Given the description of an element on the screen output the (x, y) to click on. 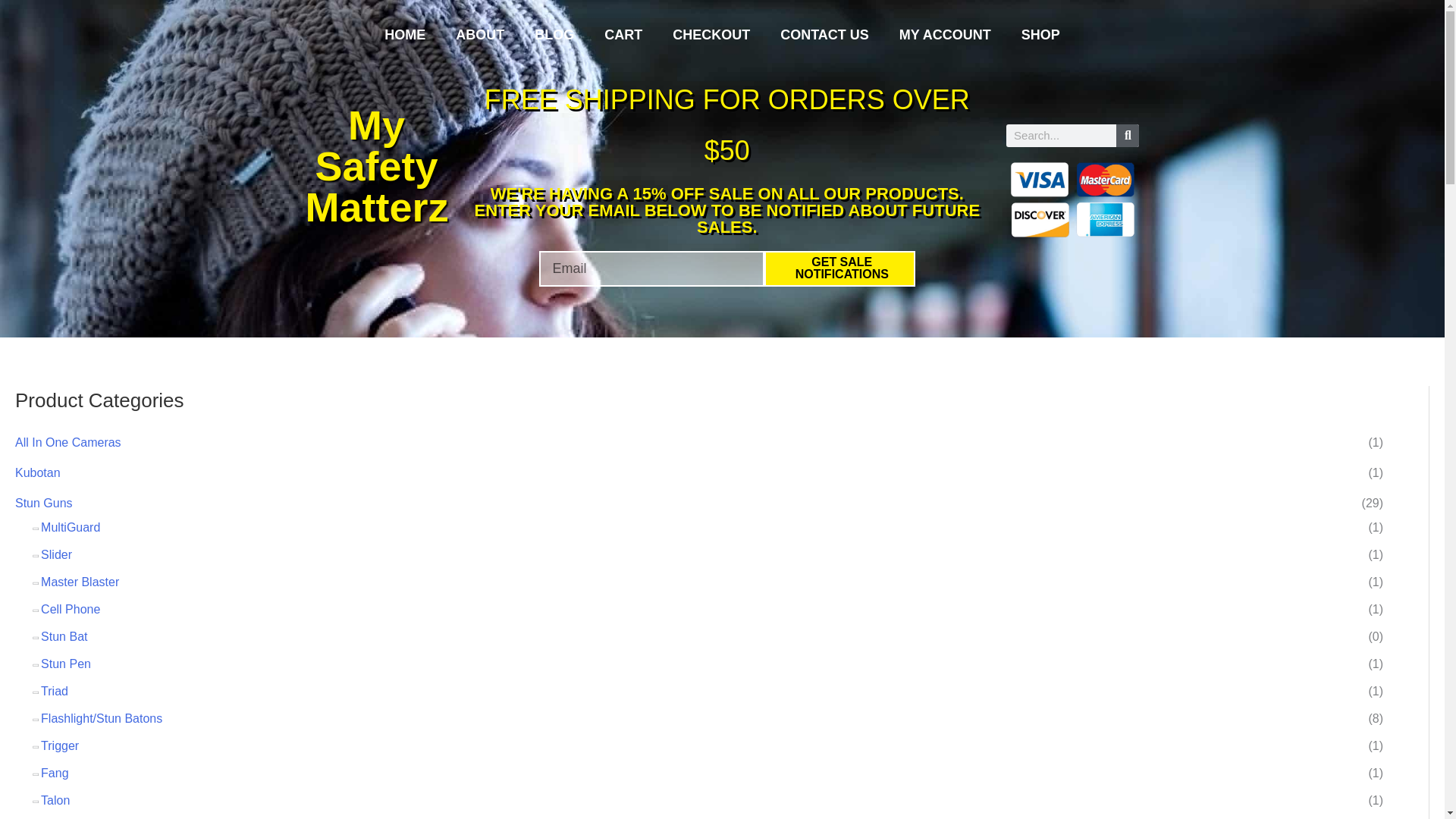
CART (623, 34)
Stun Pen (65, 663)
CONTACT US (824, 34)
All In One Cameras (67, 441)
Slider (55, 554)
CHECKOUT (711, 34)
GET SALE NOTIFICATIONS (839, 268)
Kubotan (37, 472)
Trigger (59, 745)
SHOP (1040, 34)
